Given the description of an element on the screen output the (x, y) to click on. 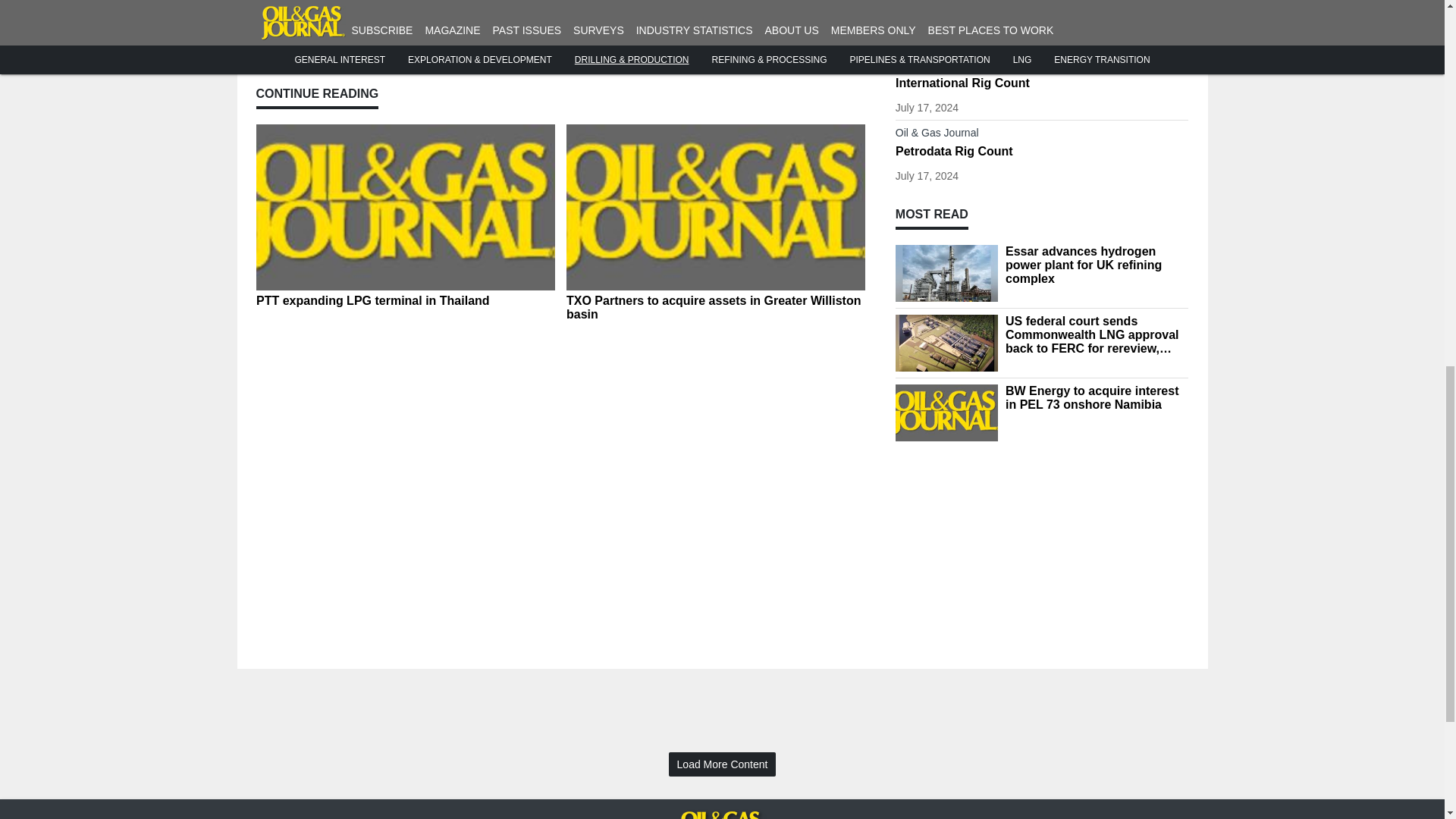
Essar advances hydrogen power plant for UK refining complex (1097, 264)
BW Energy to acquire interest in PEL 73 onshore Namibia (1097, 397)
Petrodata Rig Count (1042, 151)
International Rig Count (1042, 83)
TXO Partners to acquire assets in Greater Williston basin (715, 307)
General Interest (1042, 67)
Load More Content (722, 764)
PTT expanding LPG terminal in Thailand (405, 300)
